Given the description of an element on the screen output the (x, y) to click on. 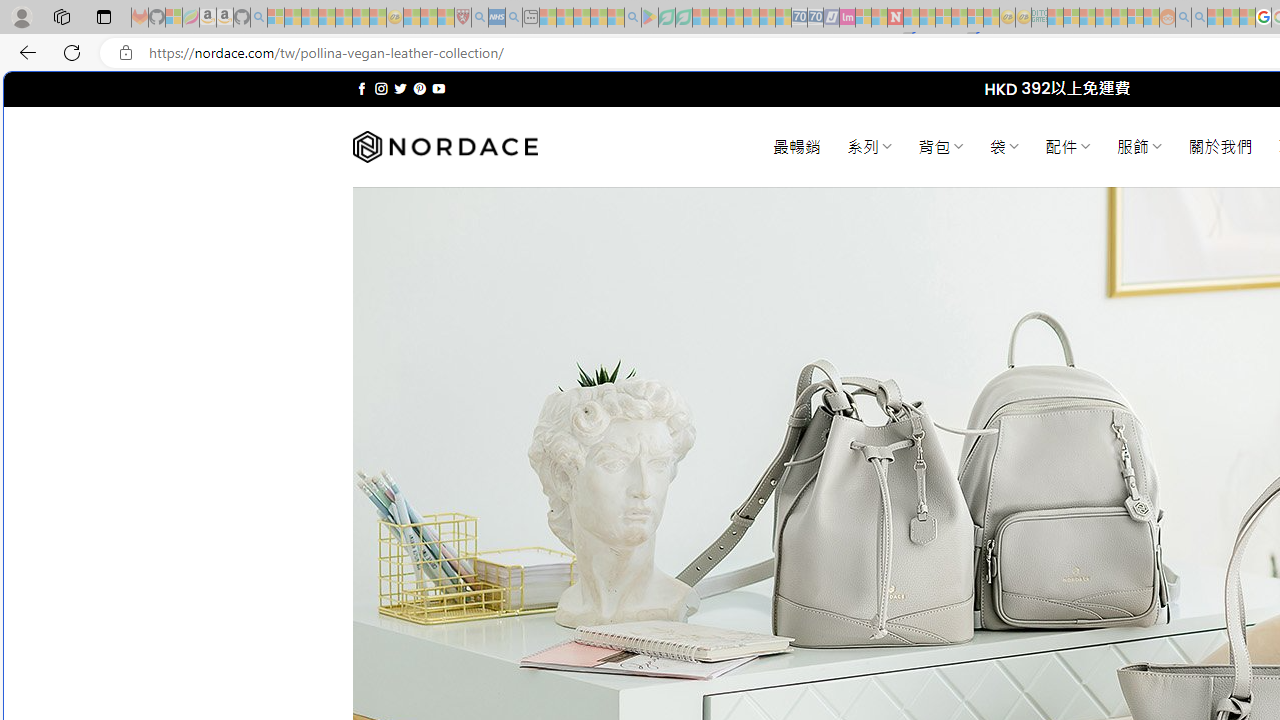
Trusted Community Engagement and Contributions | Guidelines (911, 17)
Bluey: Let's Play! - Apps on Google Play - Sleeping (649, 17)
Back (24, 52)
Nordace (444, 147)
